Given the description of an element on the screen output the (x, y) to click on. 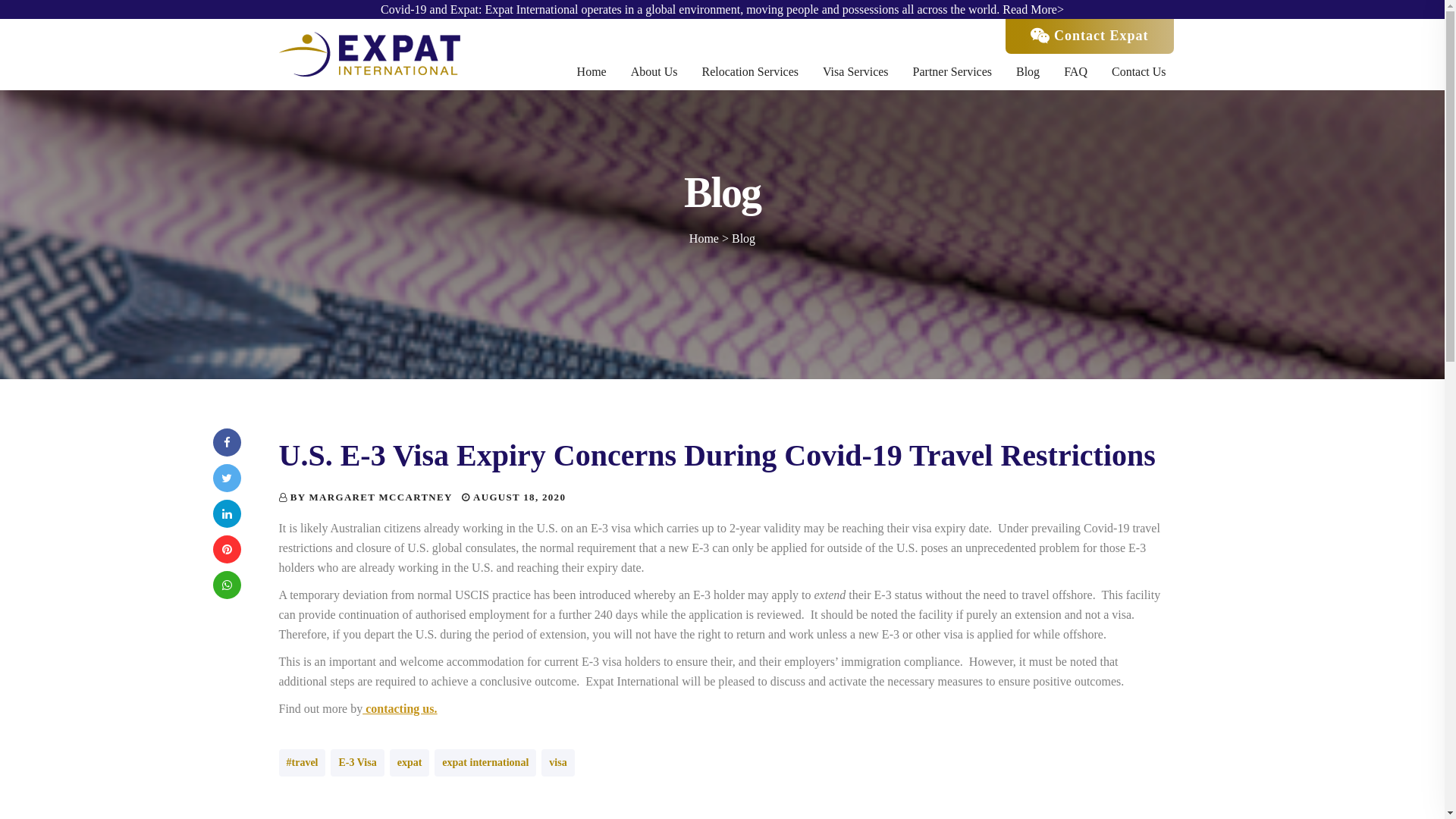
contacting us. Element type: text (400, 708)
Blog Element type: text (743, 238)
Search Element type: text (17, 15)
expat Element type: text (409, 762)
Contact Expat Element type: text (1089, 35)
Partner Services Element type: text (952, 71)
Tweet Element type: hover (226, 478)
expat international Element type: text (485, 762)
#travel Element type: text (302, 762)
E-3 Visa Element type: text (356, 762)
Relocation Services Element type: text (750, 71)
Visa Services Element type: text (855, 71)
visa Element type: text (557, 762)
LinkedIn Element type: hover (226, 513)
Read More> Element type: text (1032, 9)
Blog Element type: text (1027, 71)
Contact Us Element type: text (1138, 71)
Facebook Element type: hover (226, 442)
FAQ Element type: text (1075, 71)
Home Element type: text (591, 71)
About Us Element type: text (653, 71)
Home Element type: text (703, 238)
